Given the description of an element on the screen output the (x, y) to click on. 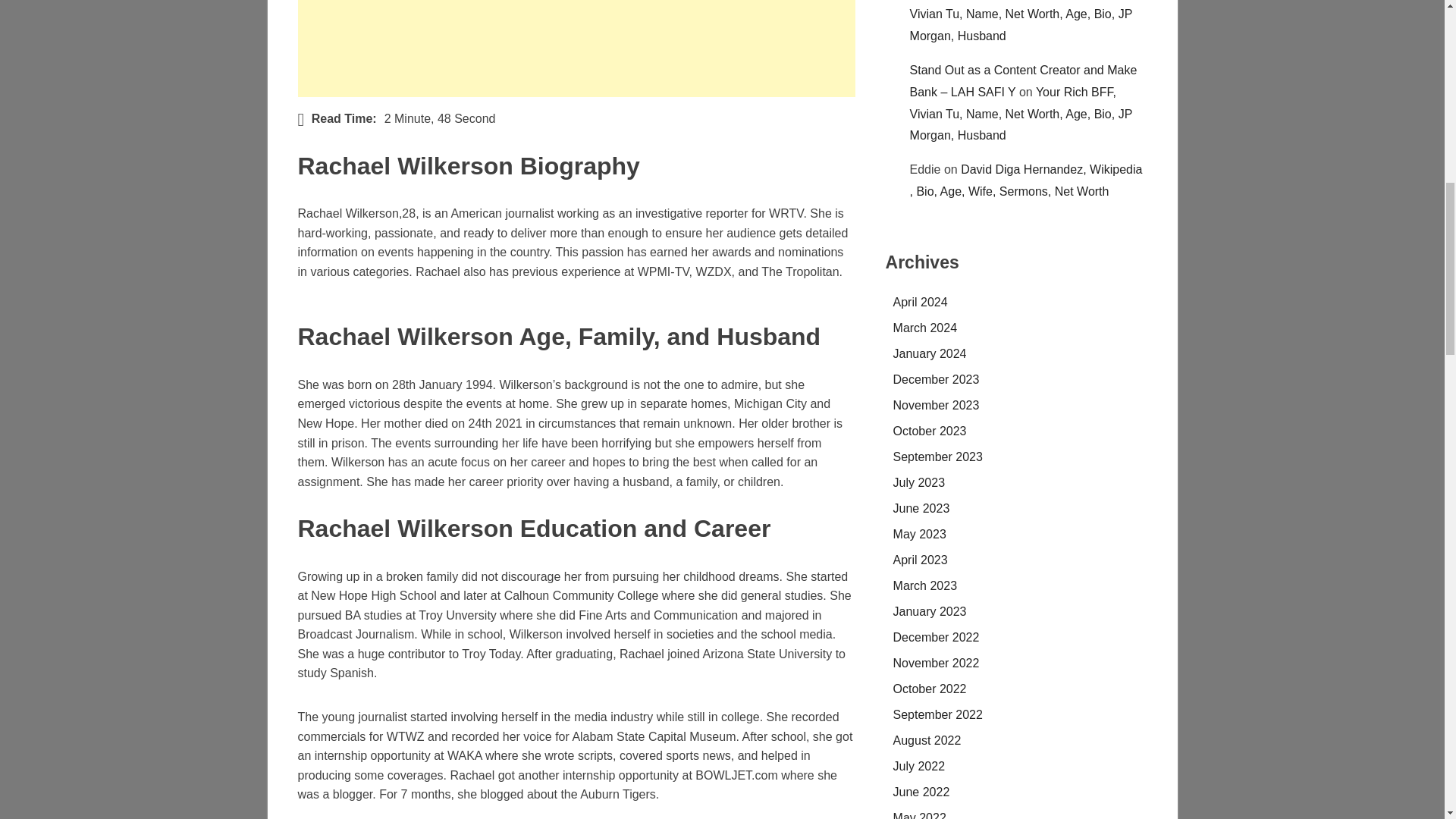
Advertisement (575, 48)
